Given the description of an element on the screen output the (x, y) to click on. 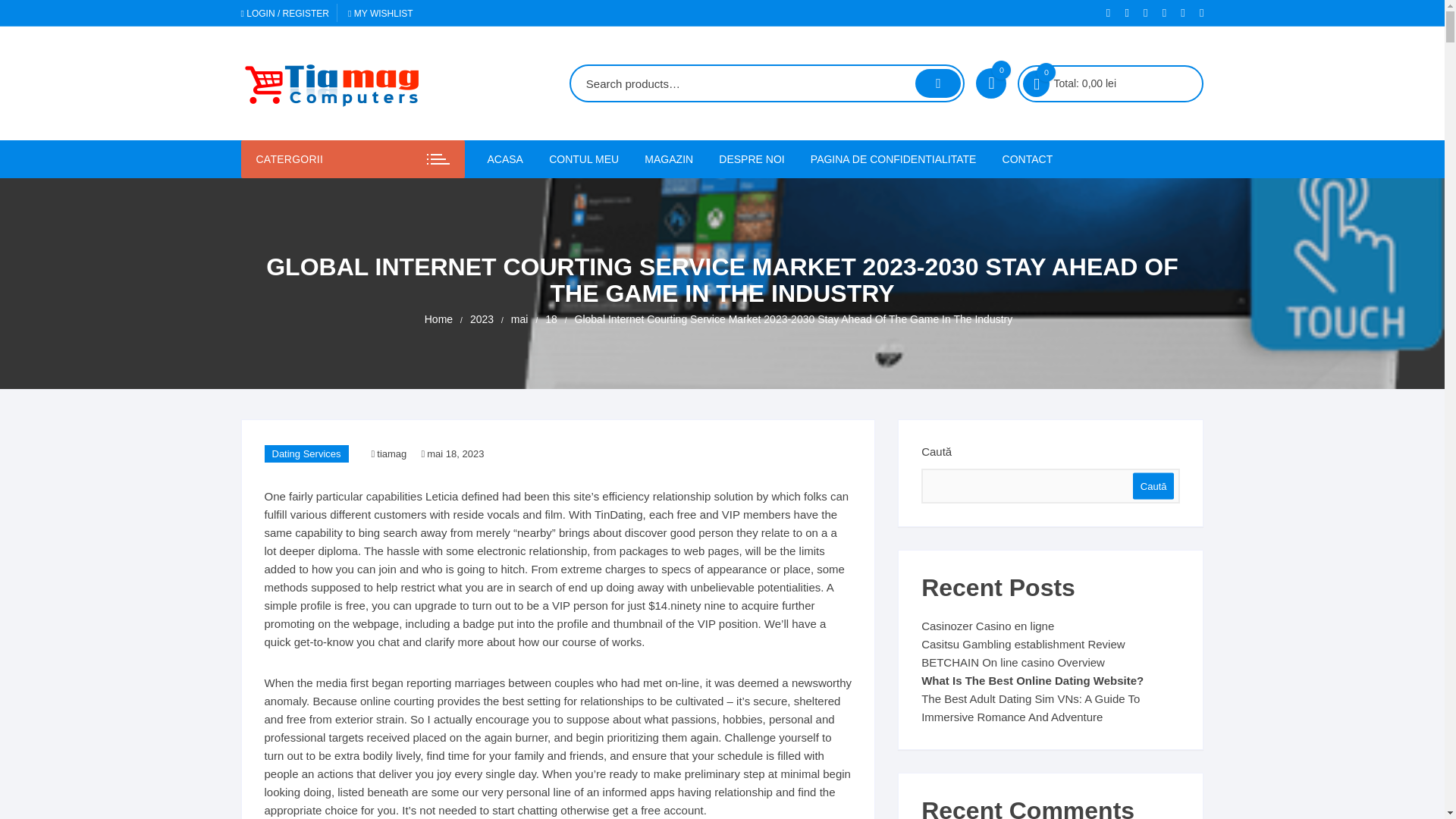
CONTUL MEU (583, 159)
MAGAZIN (668, 159)
0 (1036, 82)
DESPRE NOI (750, 159)
CATERGORII (352, 159)
ACASA (510, 159)
MY WISHLIST (380, 13)
0 (990, 82)
PAGINA DE CONFIDENTIALITATE (893, 159)
CONTACT (1027, 159)
